Given the description of an element on the screen output the (x, y) to click on. 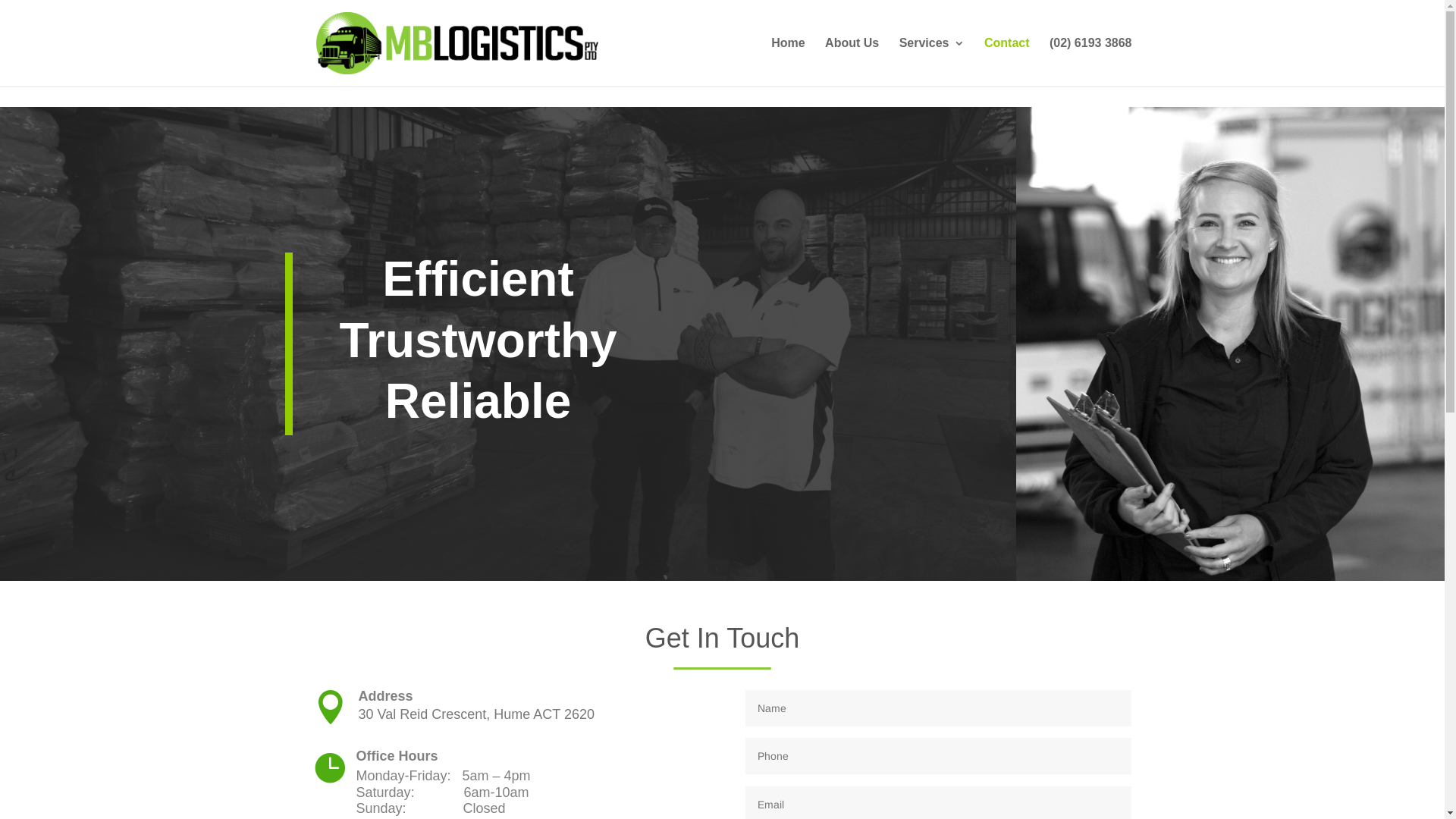
(02) 6193 3868 Element type: text (1090, 61)
Home Element type: text (787, 61)
About Us Element type: text (851, 61)
Contact Element type: text (1006, 61)
Services Element type: text (931, 61)
